Given the description of an element on the screen output the (x, y) to click on. 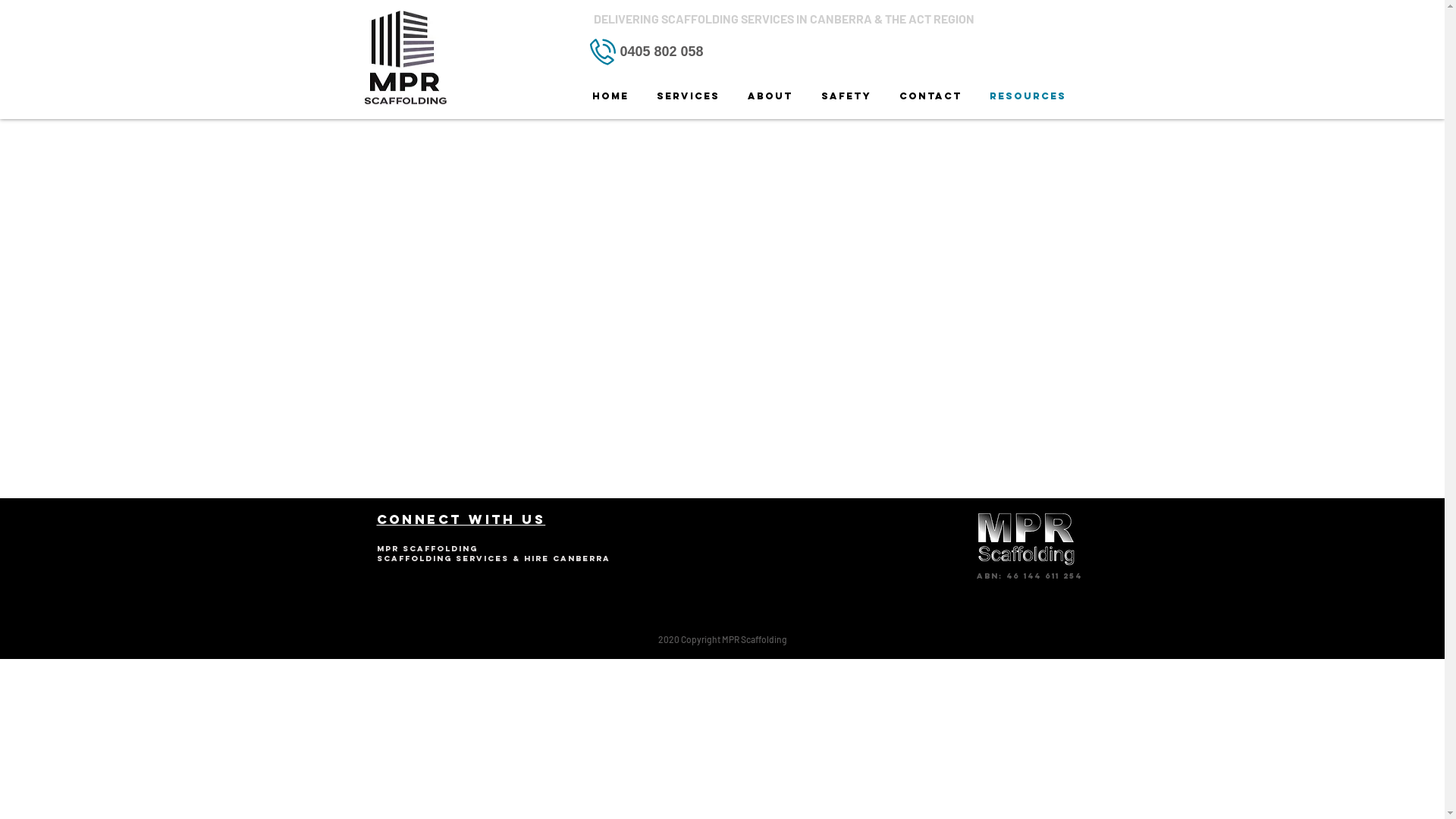
Services Element type: text (688, 95)
Safety Element type: text (845, 95)
Resources Element type: text (1027, 95)
About Element type: text (770, 95)
Home Element type: text (609, 95)
logo.png Element type: hover (1025, 538)
CONNECT WITH US Element type: text (460, 519)
Contact Element type: text (930, 95)
